Given the description of an element on the screen output the (x, y) to click on. 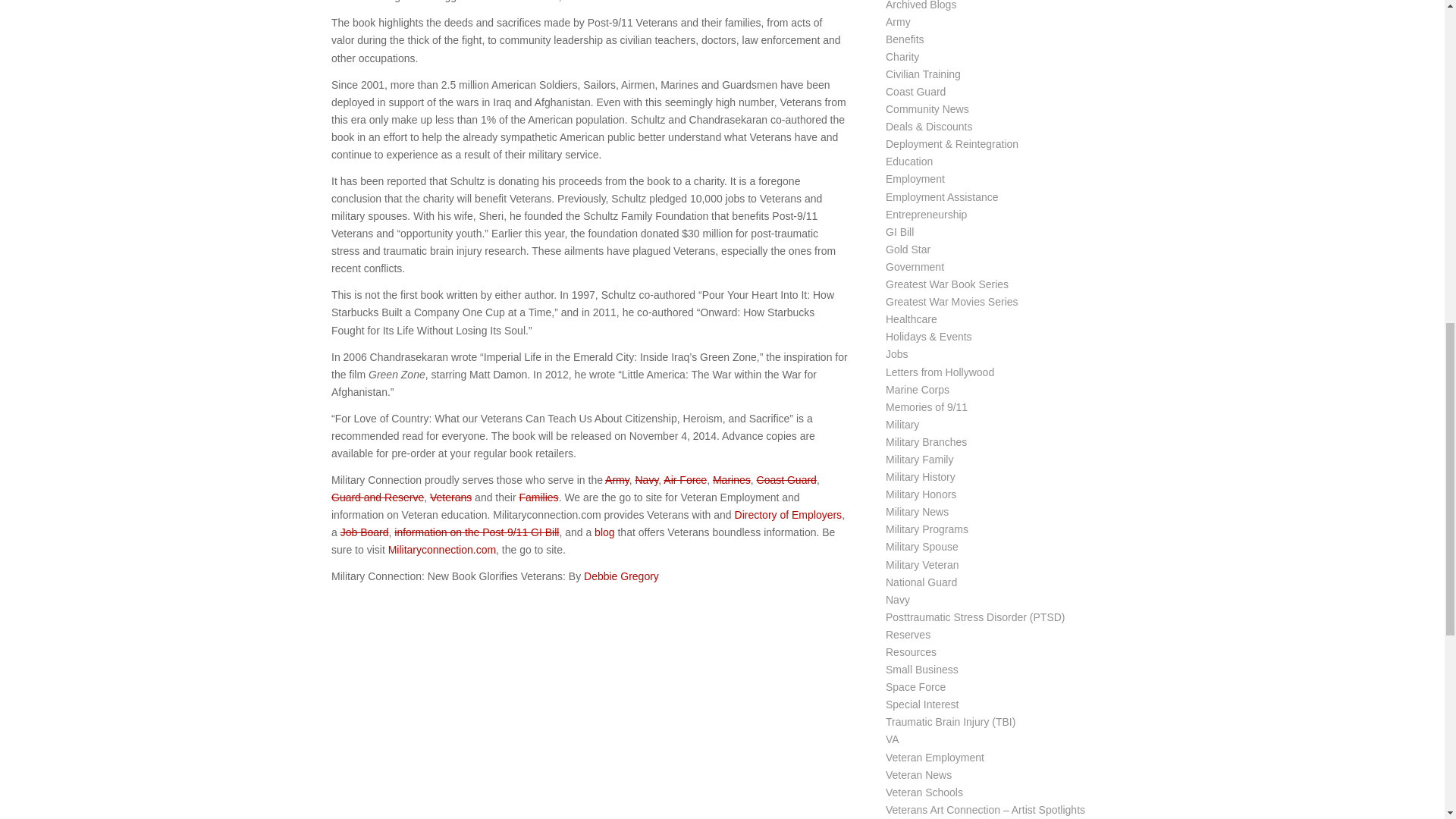
Army (616, 480)
Marines (732, 480)
Navy (646, 480)
Job Board (364, 532)
Families (537, 497)
Debbie Gregory (621, 576)
Coast Guard (786, 480)
Guard and Reserve (377, 497)
Air Force (684, 480)
Veterans (450, 497)
